Given the description of an element on the screen output the (x, y) to click on. 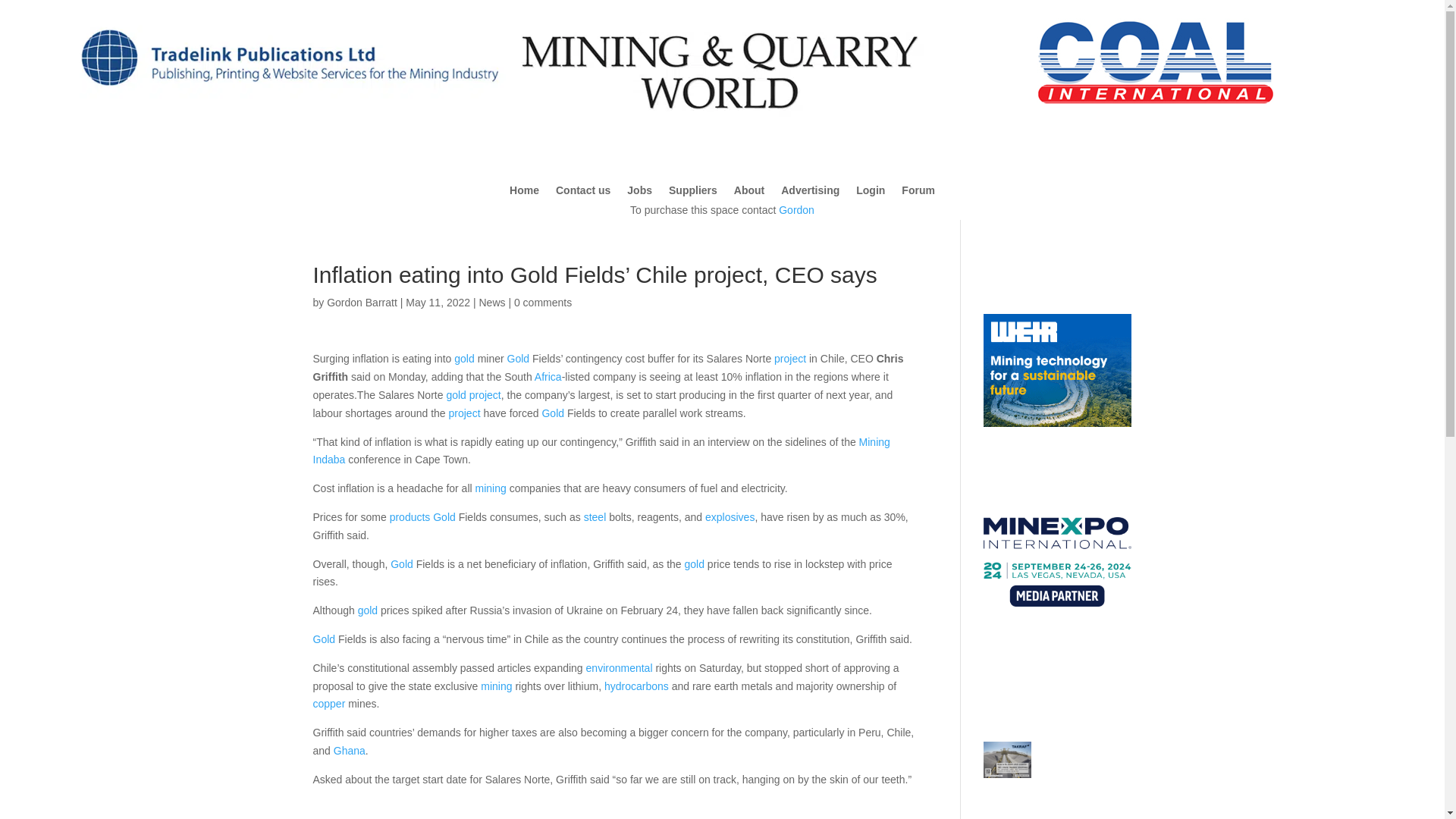
Suppliers (692, 193)
tradelinkpublications logo (288, 105)
project (484, 395)
Africa (548, 377)
Login (870, 193)
products (410, 517)
Indaba (329, 459)
About (748, 193)
Posts by Gordon Barratt (361, 302)
environmental (619, 667)
